Given the description of an element on the screen output the (x, y) to click on. 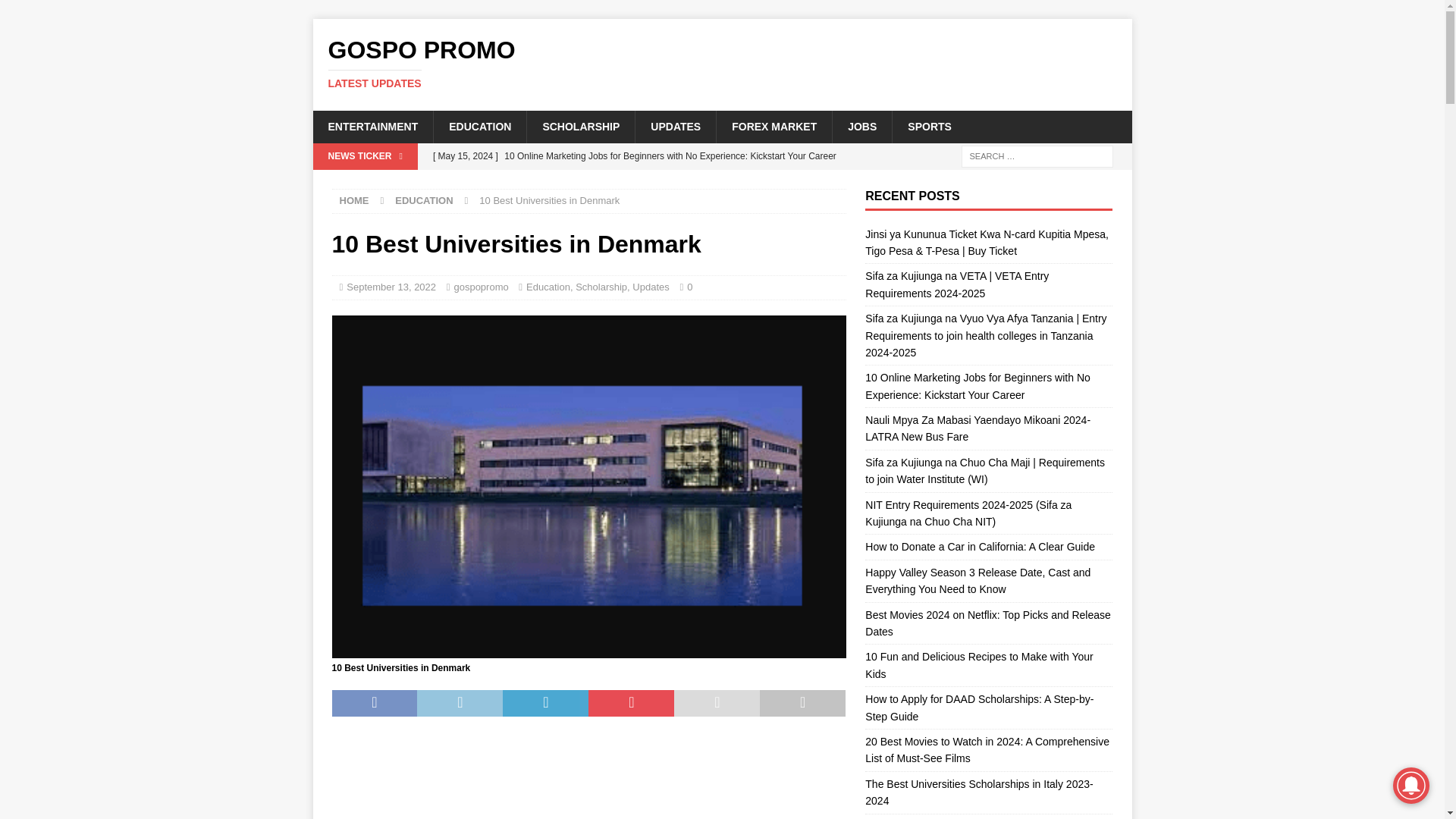
HOME (354, 200)
Education (547, 286)
JOBS (861, 126)
Scholarship (601, 286)
ENTERTAINMENT (372, 126)
September 13, 2022 (721, 63)
FOREX MARKET (390, 286)
SCHOLARSHIP (773, 126)
Gospo promo (579, 126)
10 Best Universities in Denmark (721, 63)
SPORTS (478, 126)
gospopromo (928, 126)
